Given the description of an element on the screen output the (x, y) to click on. 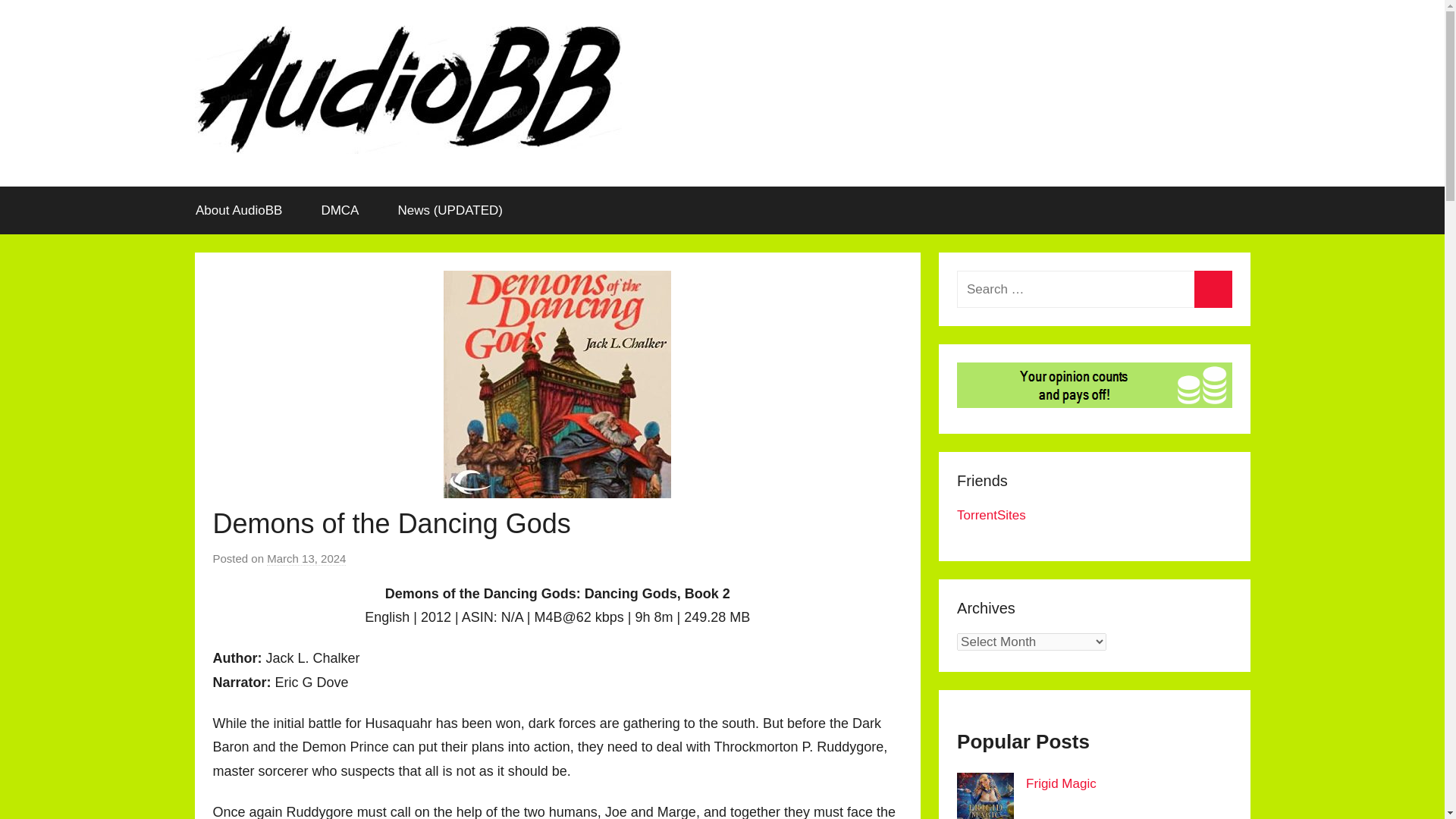
DMCA (339, 210)
March 13, 2024 (306, 558)
Search for: (1093, 289)
Search (1212, 289)
Frigid Magic (1061, 783)
TorrentSites (991, 514)
About AudioBB (238, 210)
